Given the description of an element on the screen output the (x, y) to click on. 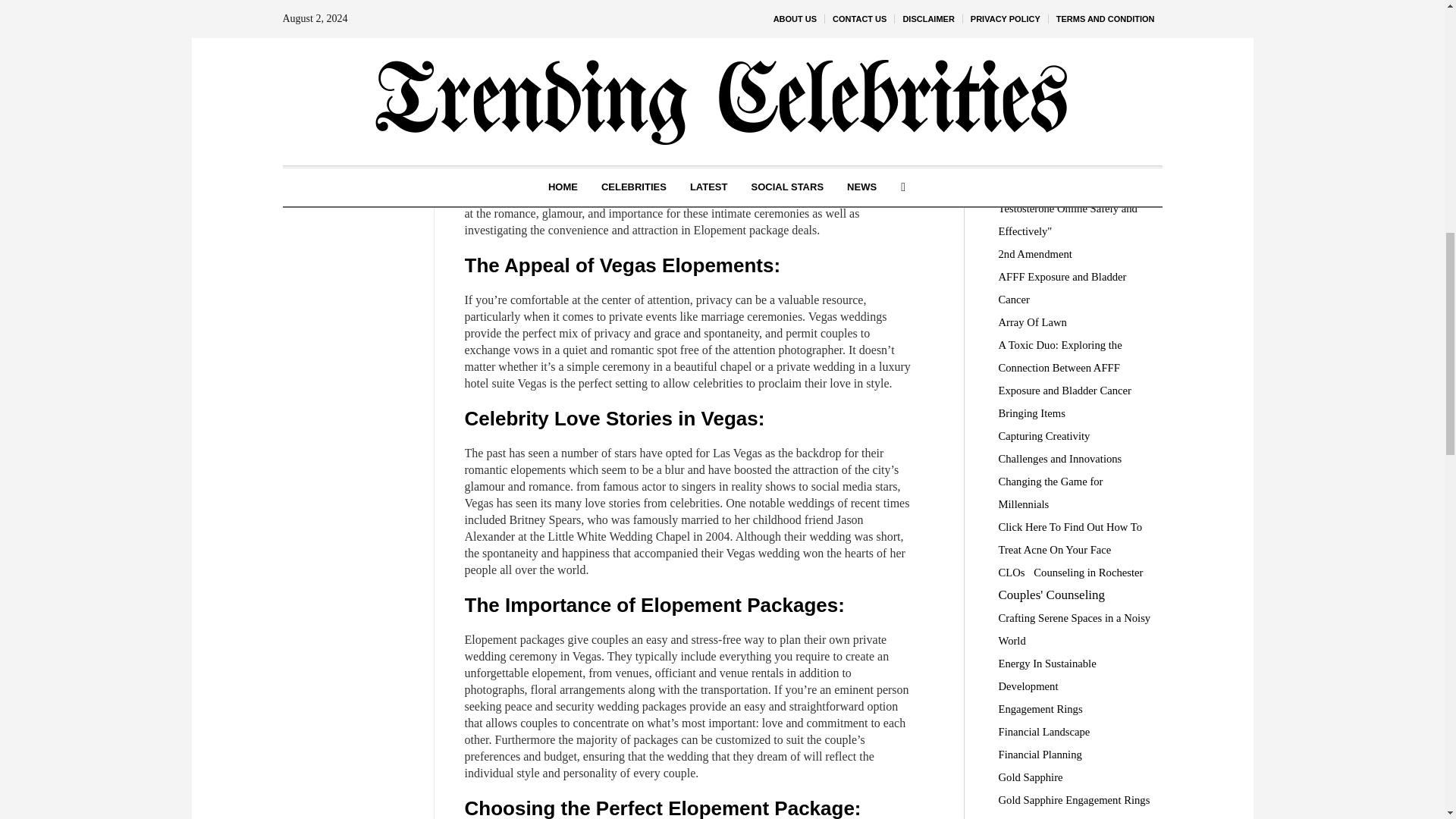
Twitter (349, 83)
Pinterest (349, 106)
Facebook (349, 60)
